Given the description of an element on the screen output the (x, y) to click on. 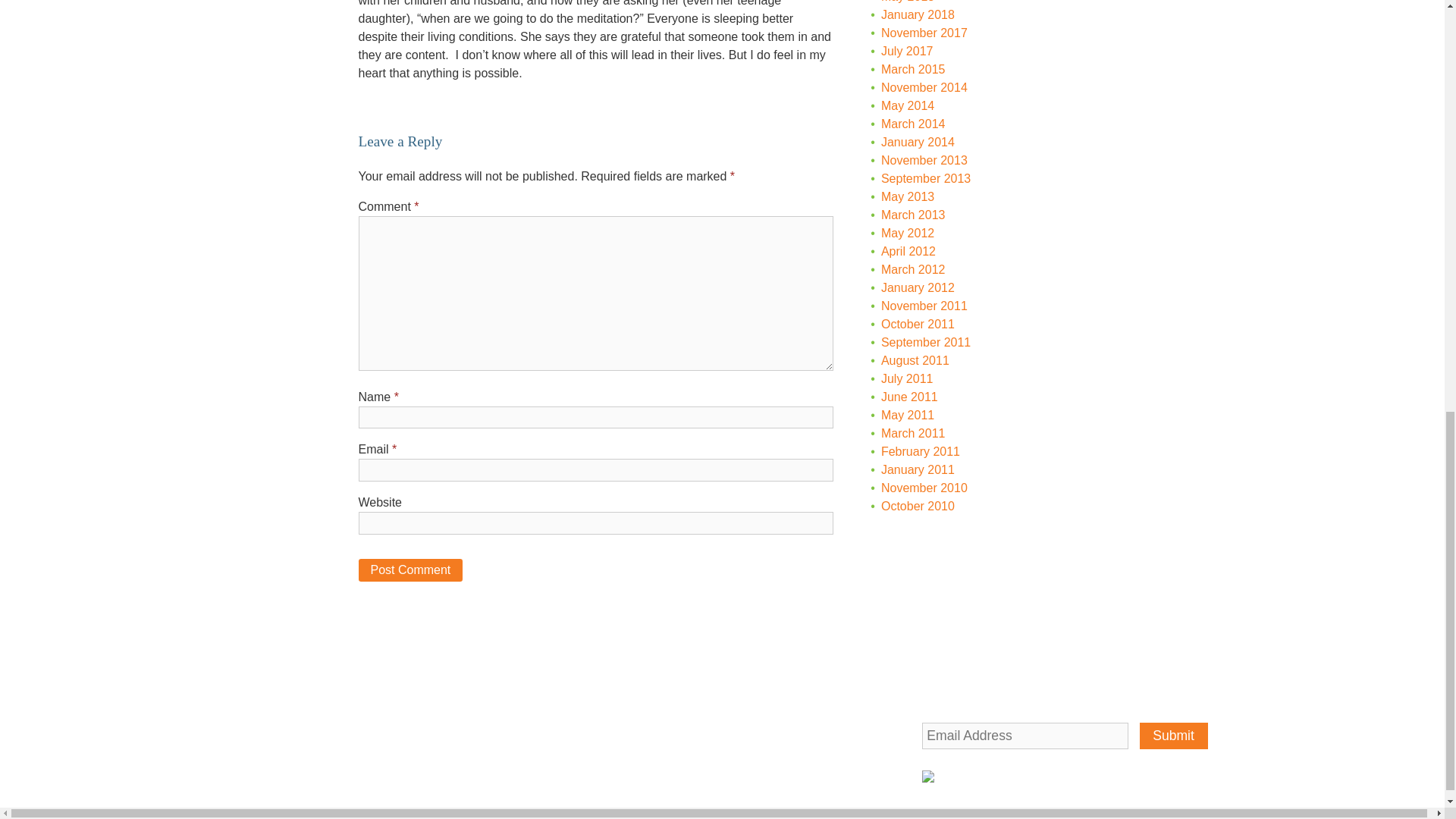
Post Comment (410, 570)
Submit (1174, 735)
Post Comment (410, 570)
